Given the description of an element on the screen output the (x, y) to click on. 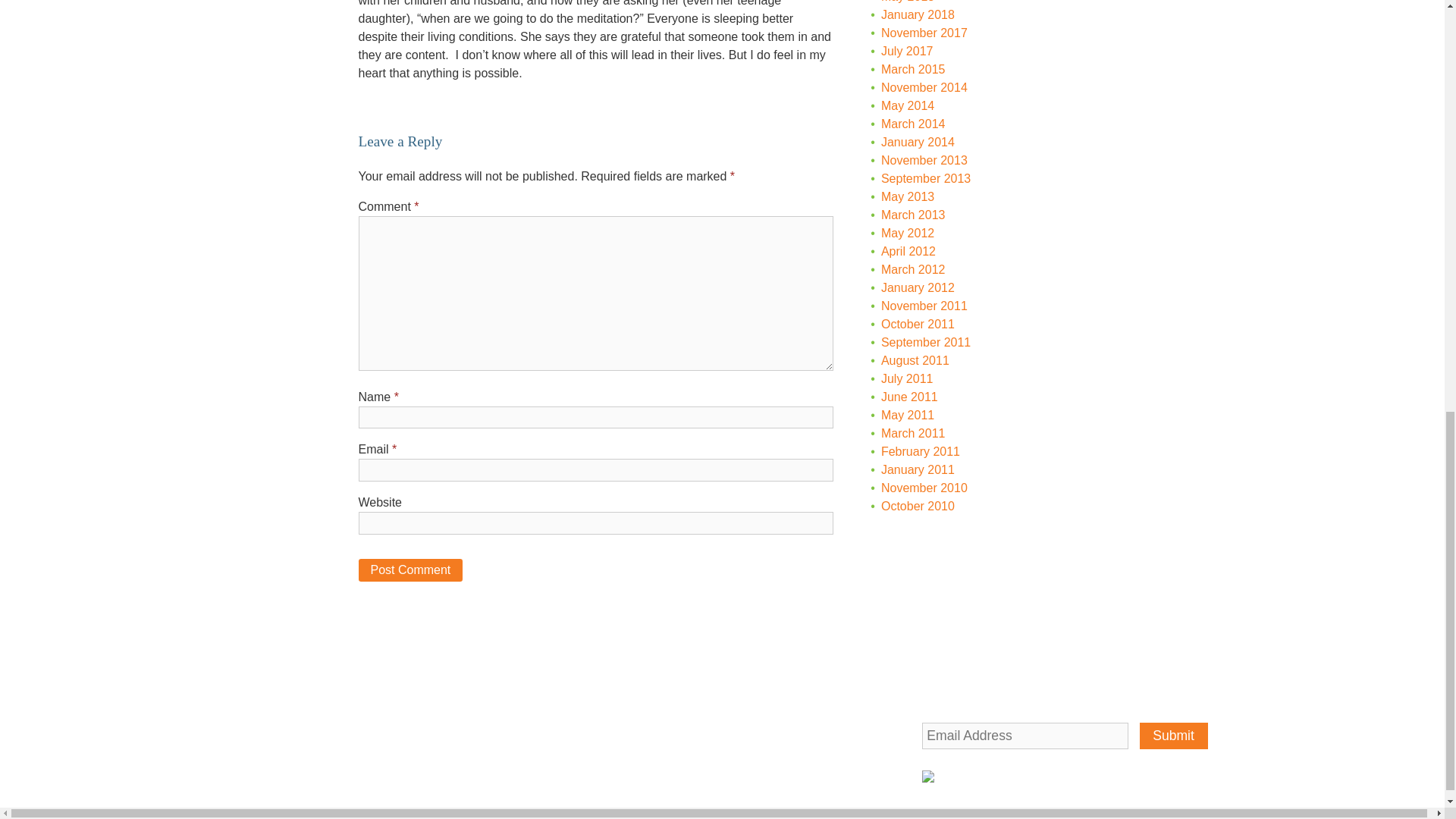
Post Comment (410, 570)
Submit (1174, 735)
Post Comment (410, 570)
